Given the description of an element on the screen output the (x, y) to click on. 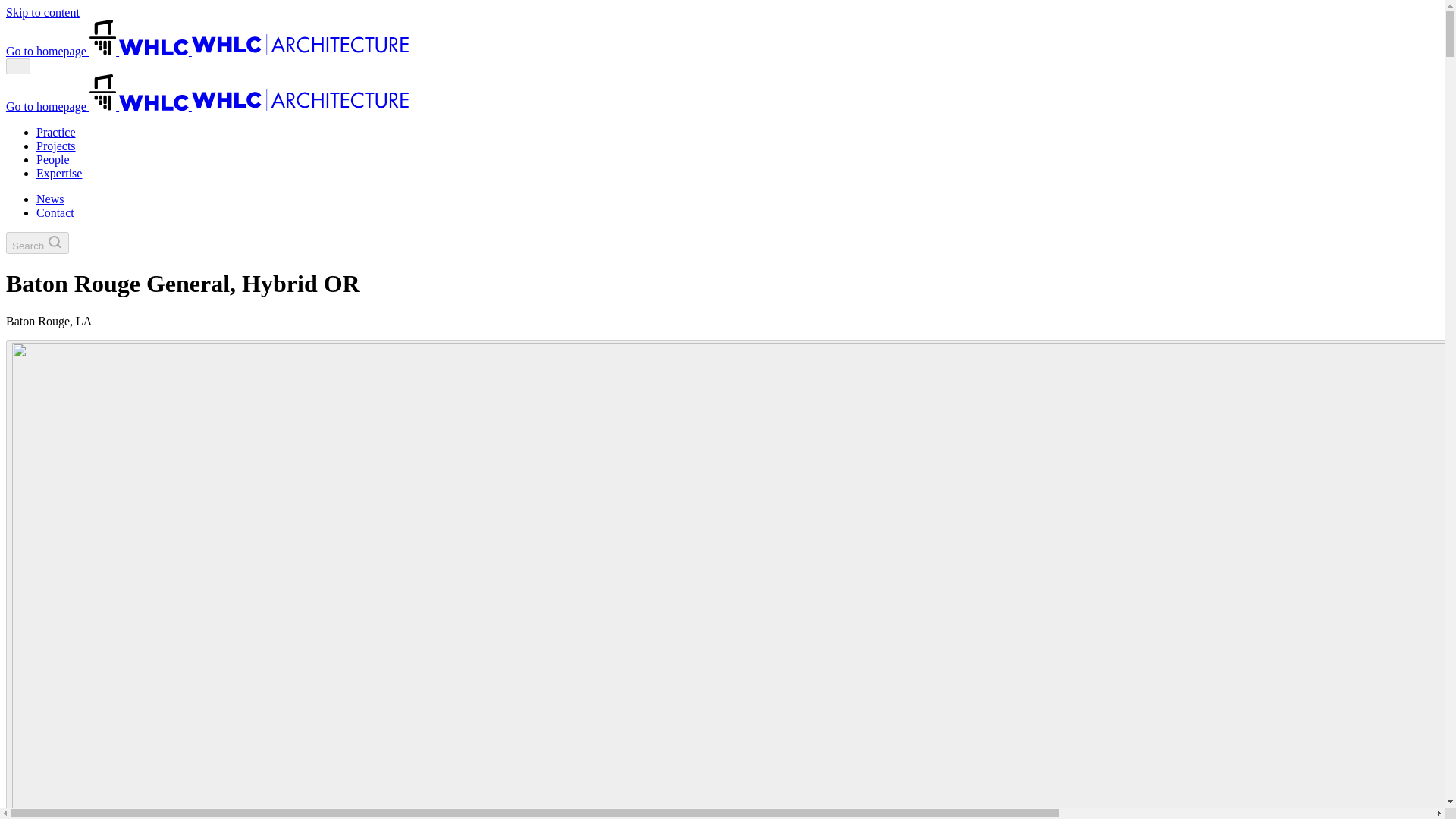
News (1244, 40)
Projects (686, 40)
Go to homepage (153, 38)
Practice (613, 40)
Contact (1309, 40)
People (754, 40)
Expertise (827, 40)
